Given the description of an element on the screen output the (x, y) to click on. 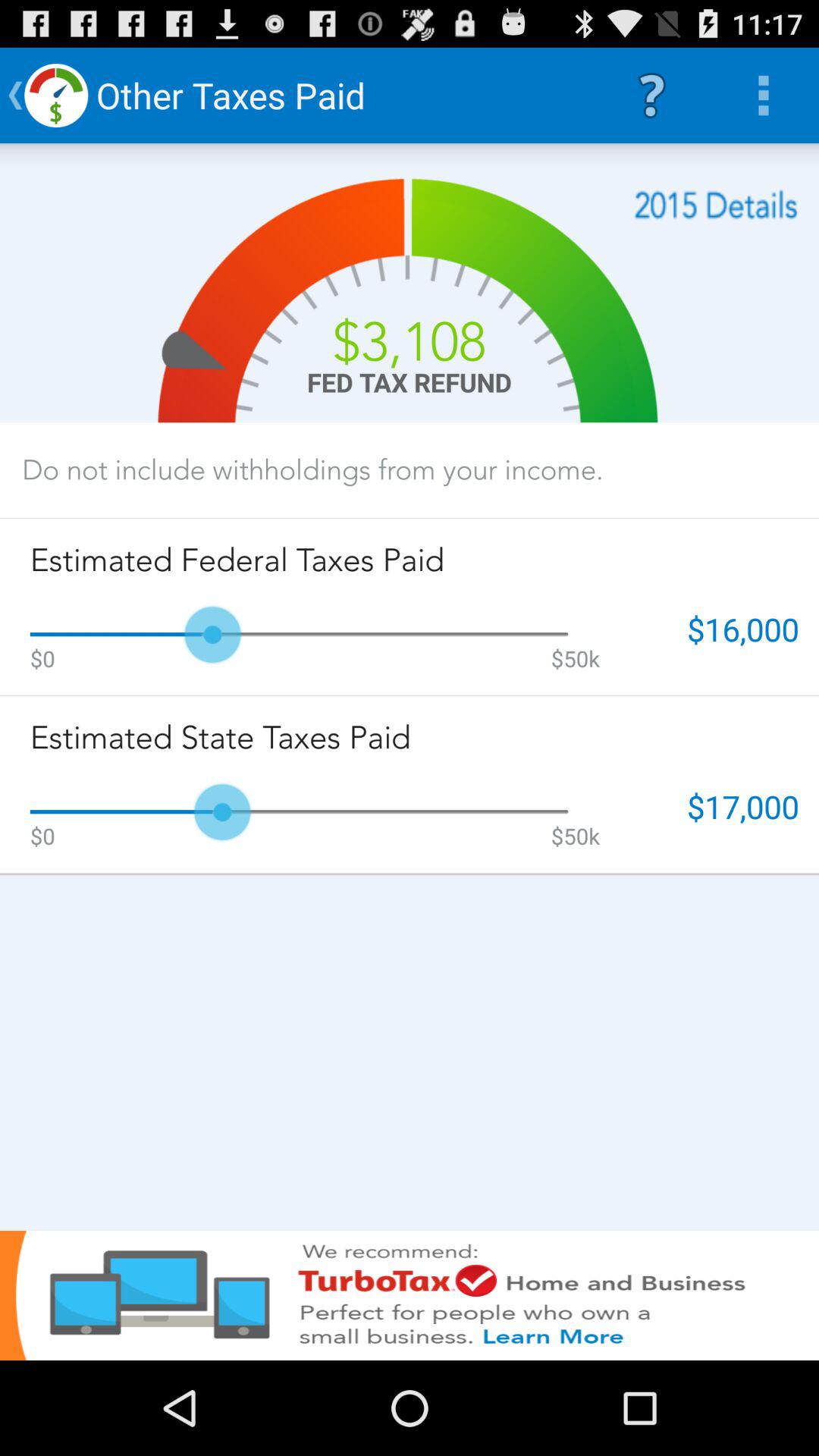
tap the app above the estimated federal taxes app (312, 469)
